Given the description of an element on the screen output the (x, y) to click on. 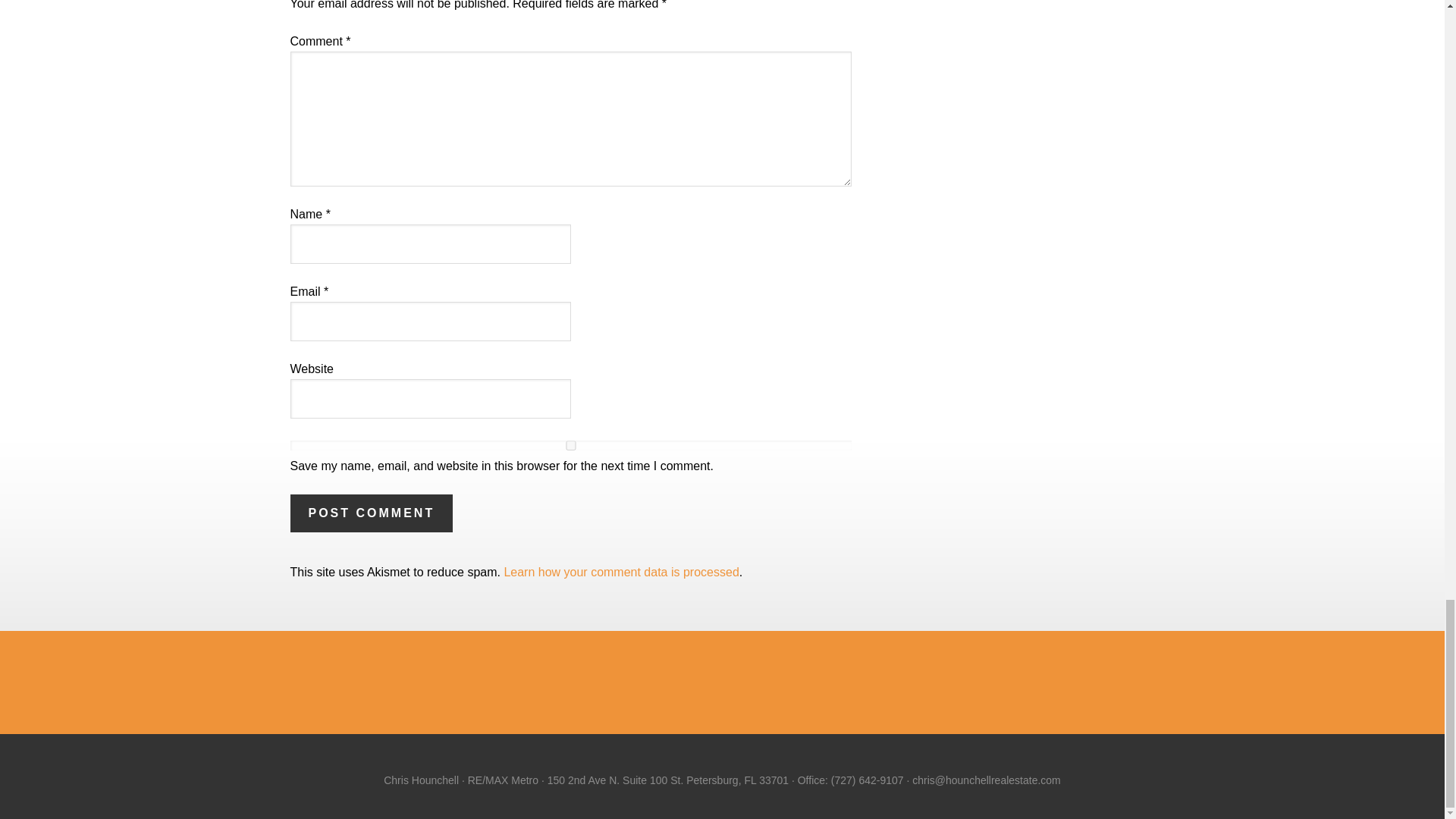
Post Comment (370, 513)
yes (569, 445)
Learn how your comment data is processed (620, 571)
Post Comment (370, 513)
